Given the description of an element on the screen output the (x, y) to click on. 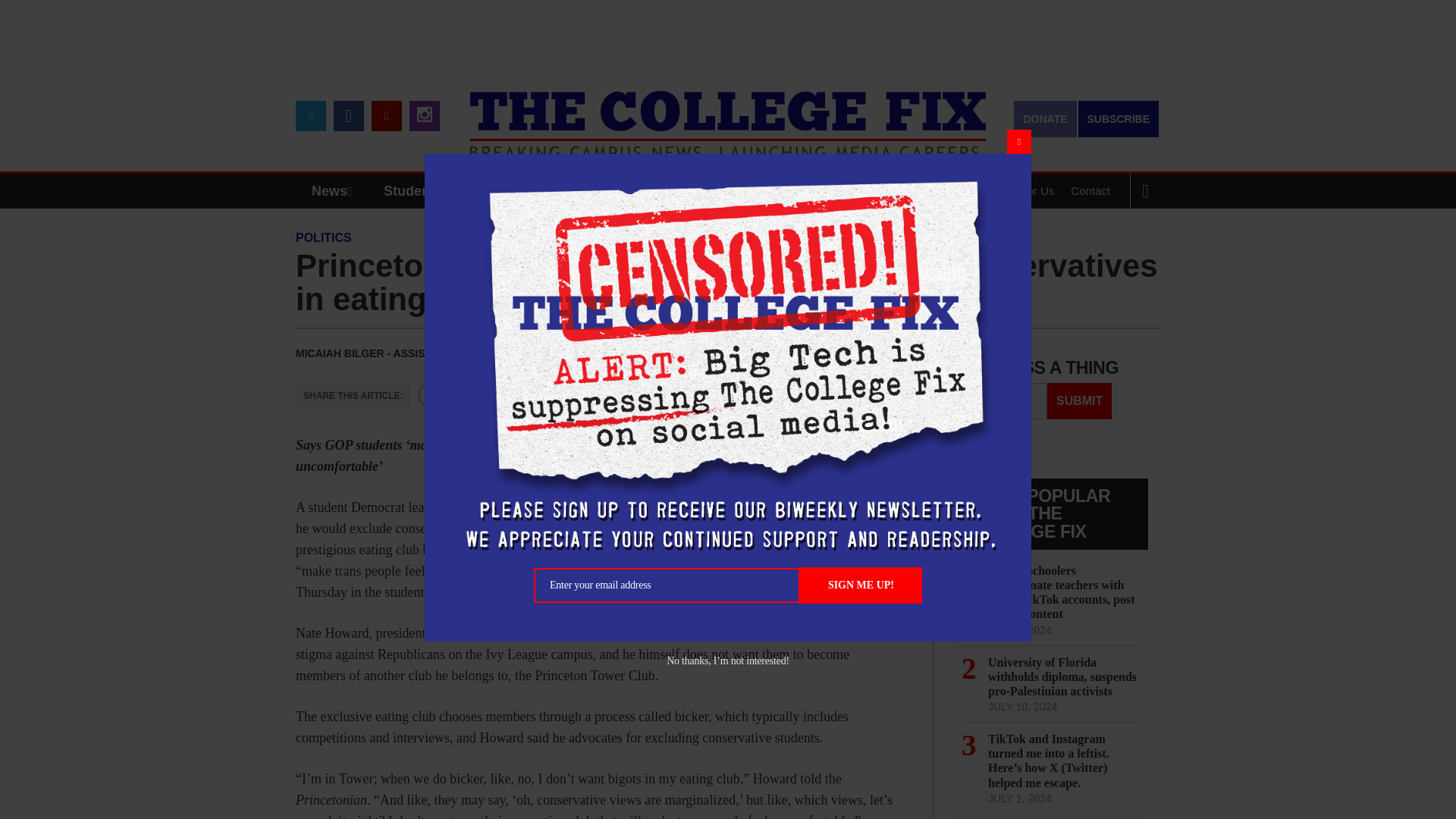
DONATE (1044, 118)
The College Fix (727, 114)
Submit (1079, 401)
News (335, 190)
About The Fix (938, 190)
SUBSCRIBE (1118, 118)
Student Reporters (443, 190)
MERCHANDISE (577, 190)
